Given the description of an element on the screen output the (x, y) to click on. 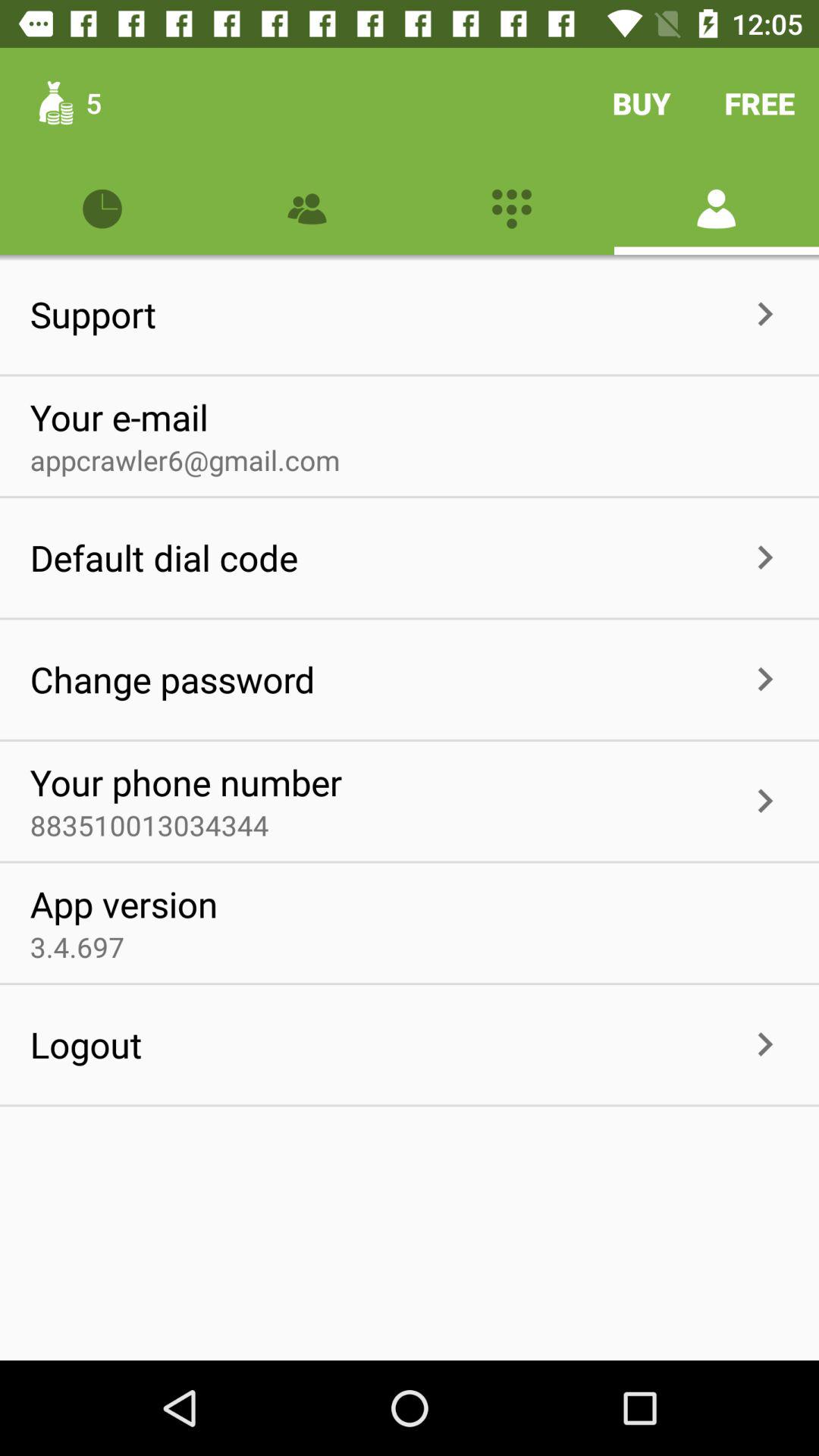
click the item below appcrawler6@gmail.com (519, 557)
